Given the description of an element on the screen output the (x, y) to click on. 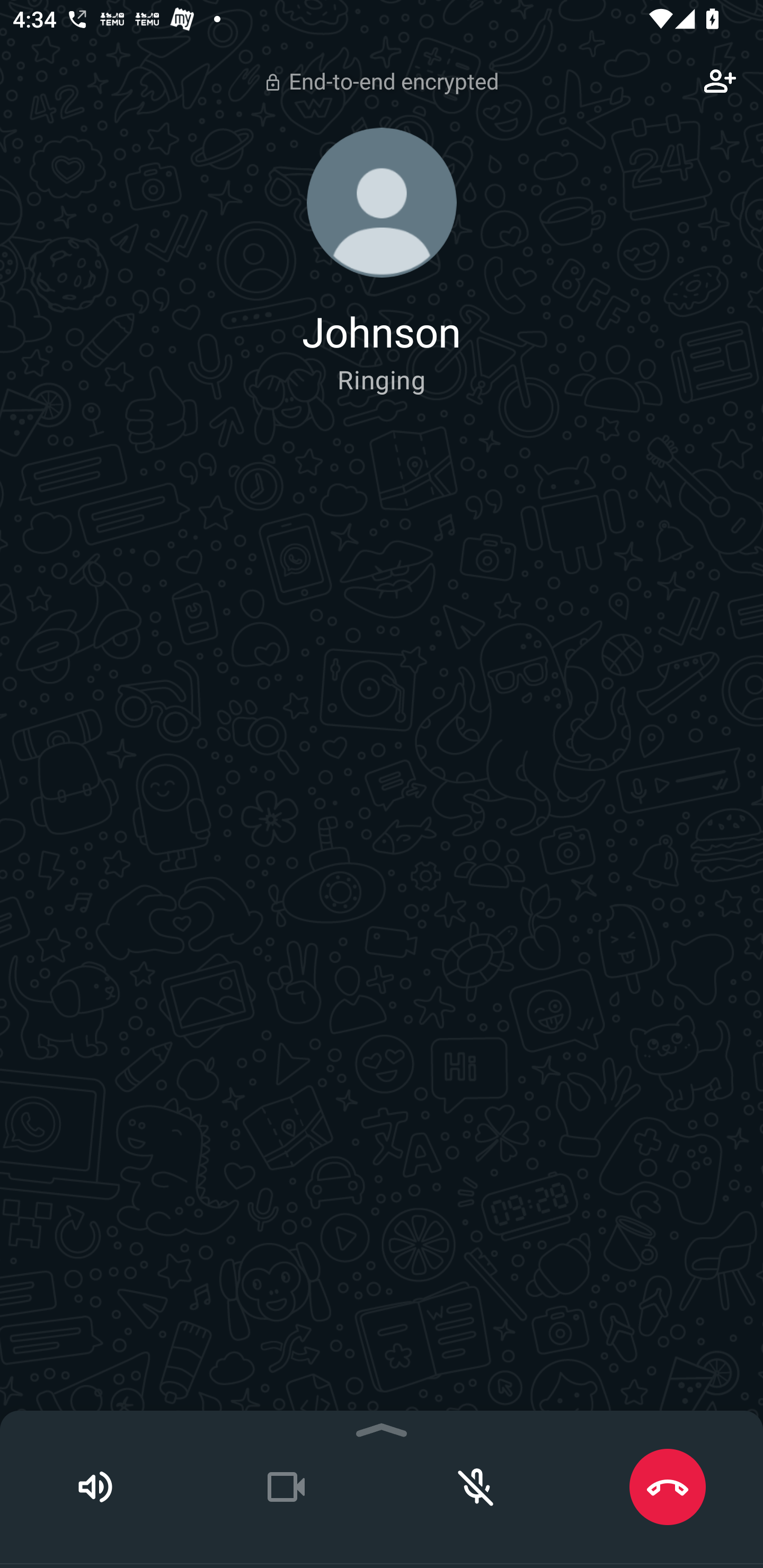
Turn speaker phone on (95, 1486)
Turn camera on (285, 1486)
Mute microphone (476, 1486)
Leave call (667, 1486)
